Given the description of an element on the screen output the (x, y) to click on. 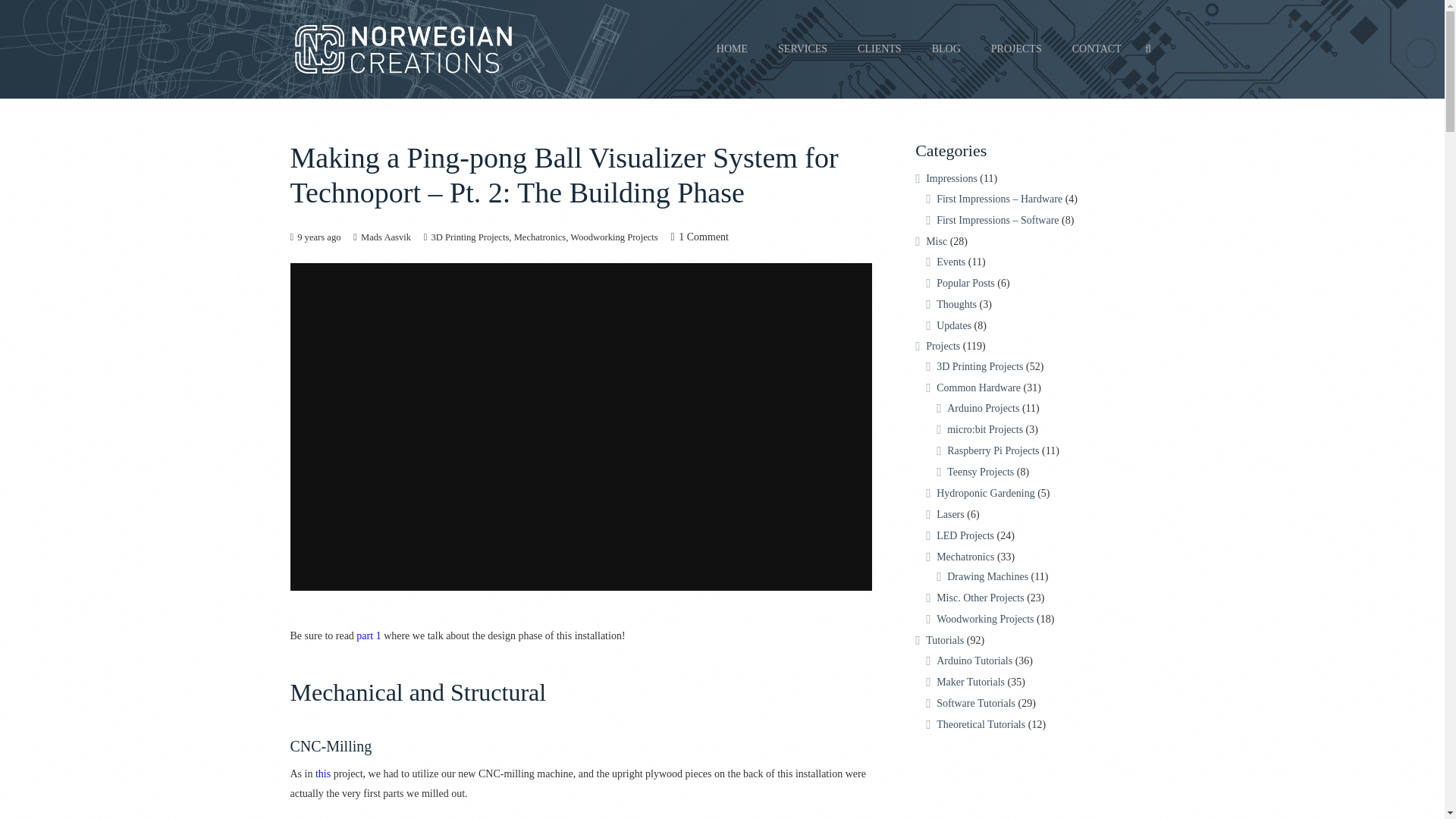
this (322, 773)
part 1 (368, 635)
Mechatronics (539, 236)
3D Printing Projects (469, 236)
Mads Aasvik (385, 237)
Woodworking Projects (614, 236)
1 Comment (703, 236)
1 Comment (703, 236)
